Given the description of an element on the screen output the (x, y) to click on. 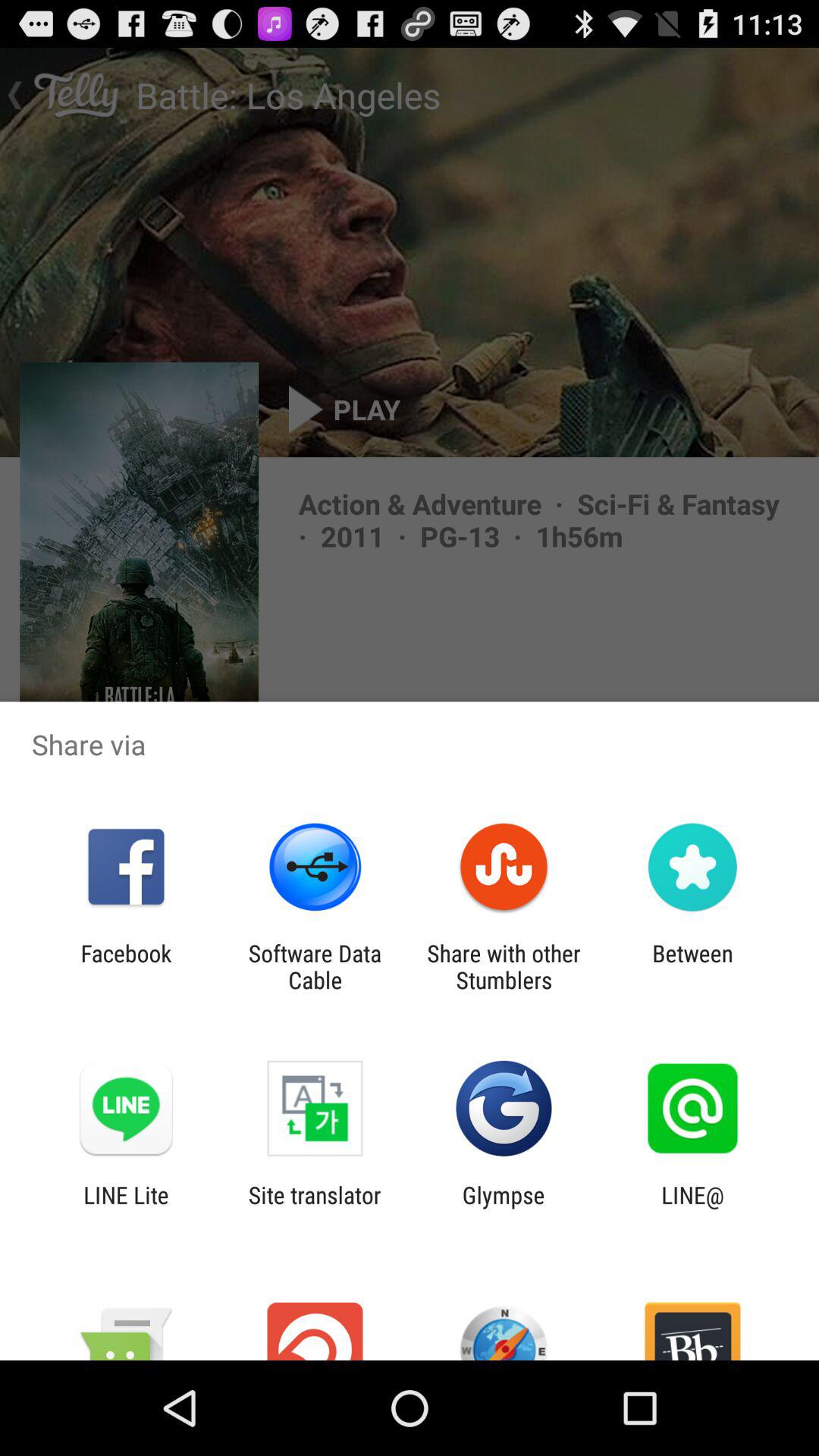
turn off software data cable (314, 966)
